Given the description of an element on the screen output the (x, y) to click on. 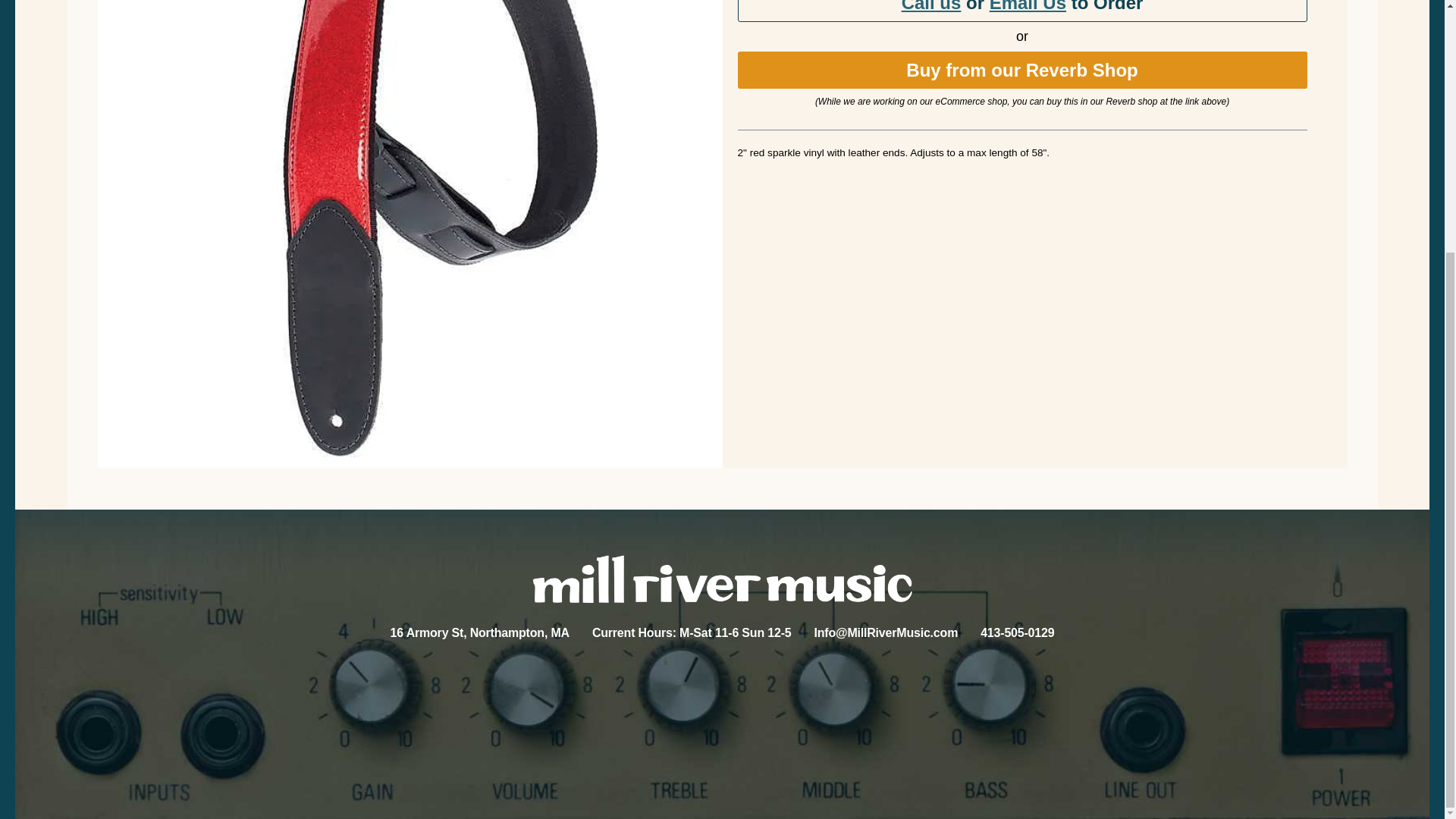
Call us (930, 6)
Email Us (1027, 6)
Buy from our Reverb Shop (1021, 69)
